Given the description of an element on the screen output the (x, y) to click on. 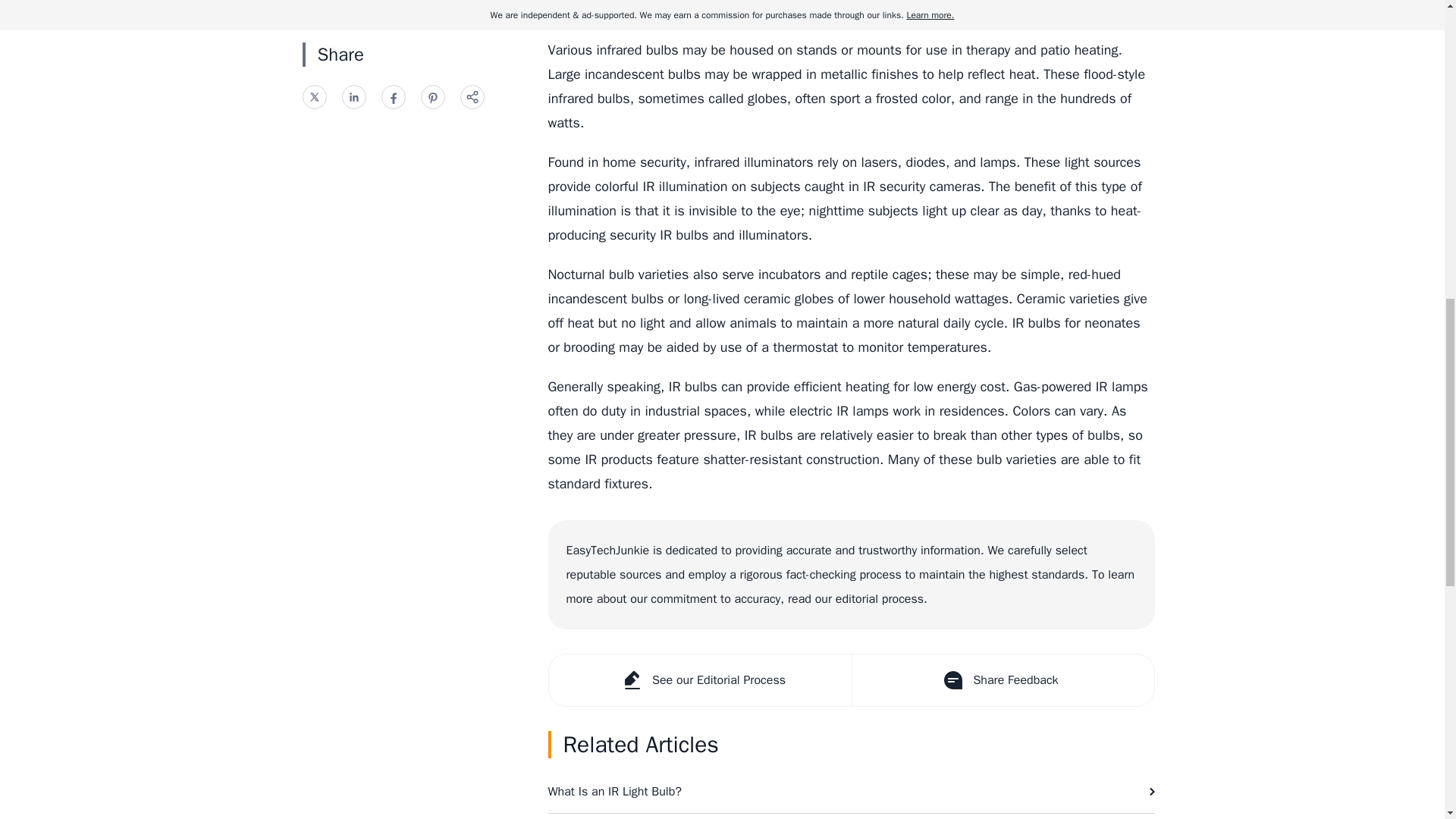
What Is an IR Light Bulb? (850, 791)
See our Editorial Process (699, 679)
Share Feedback (1001, 679)
